Given the description of an element on the screen output the (x, y) to click on. 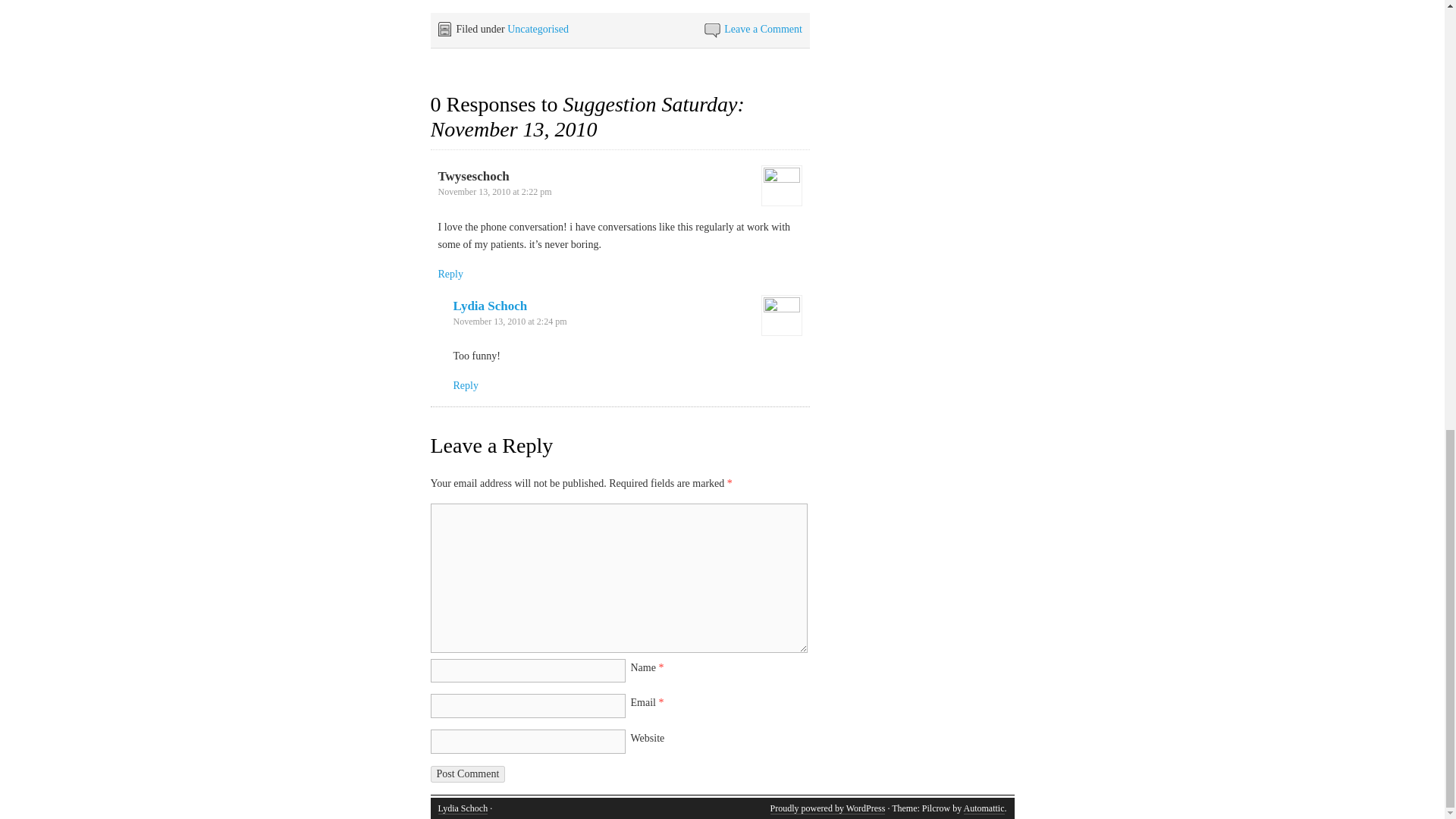
Reply (465, 385)
A Semantic Personal Publishing Platform (827, 808)
Post Comment (467, 773)
Reply (450, 274)
Leave a Comment (762, 29)
Uncategorised (537, 29)
Post Comment (467, 773)
Lydia Schoch (462, 808)
November 13, 2010 at 2:22 pm (494, 191)
November 13, 2010 at 2:24 pm (509, 321)
Lydia Schoch (489, 305)
